Given the description of an element on the screen output the (x, y) to click on. 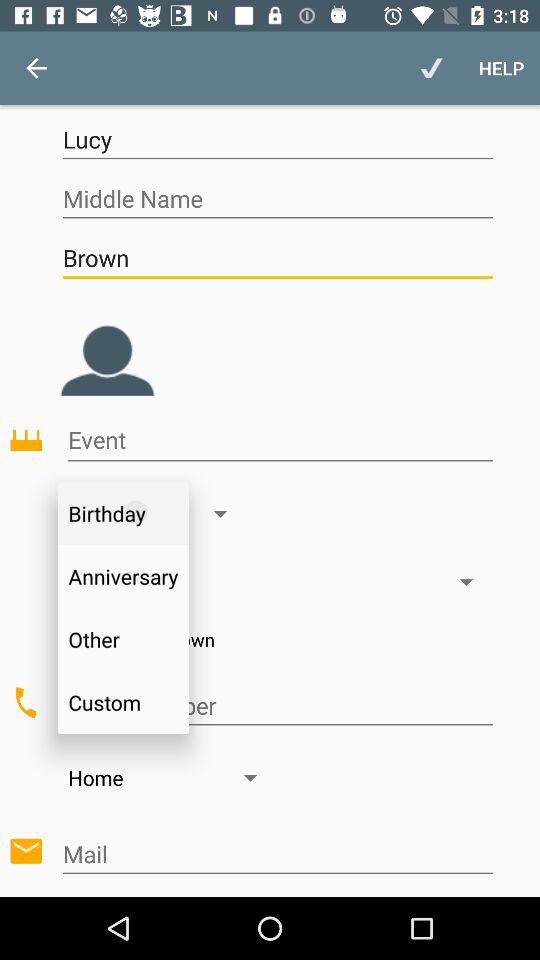
launch the year unknown item (277, 639)
